Given the description of an element on the screen output the (x, y) to click on. 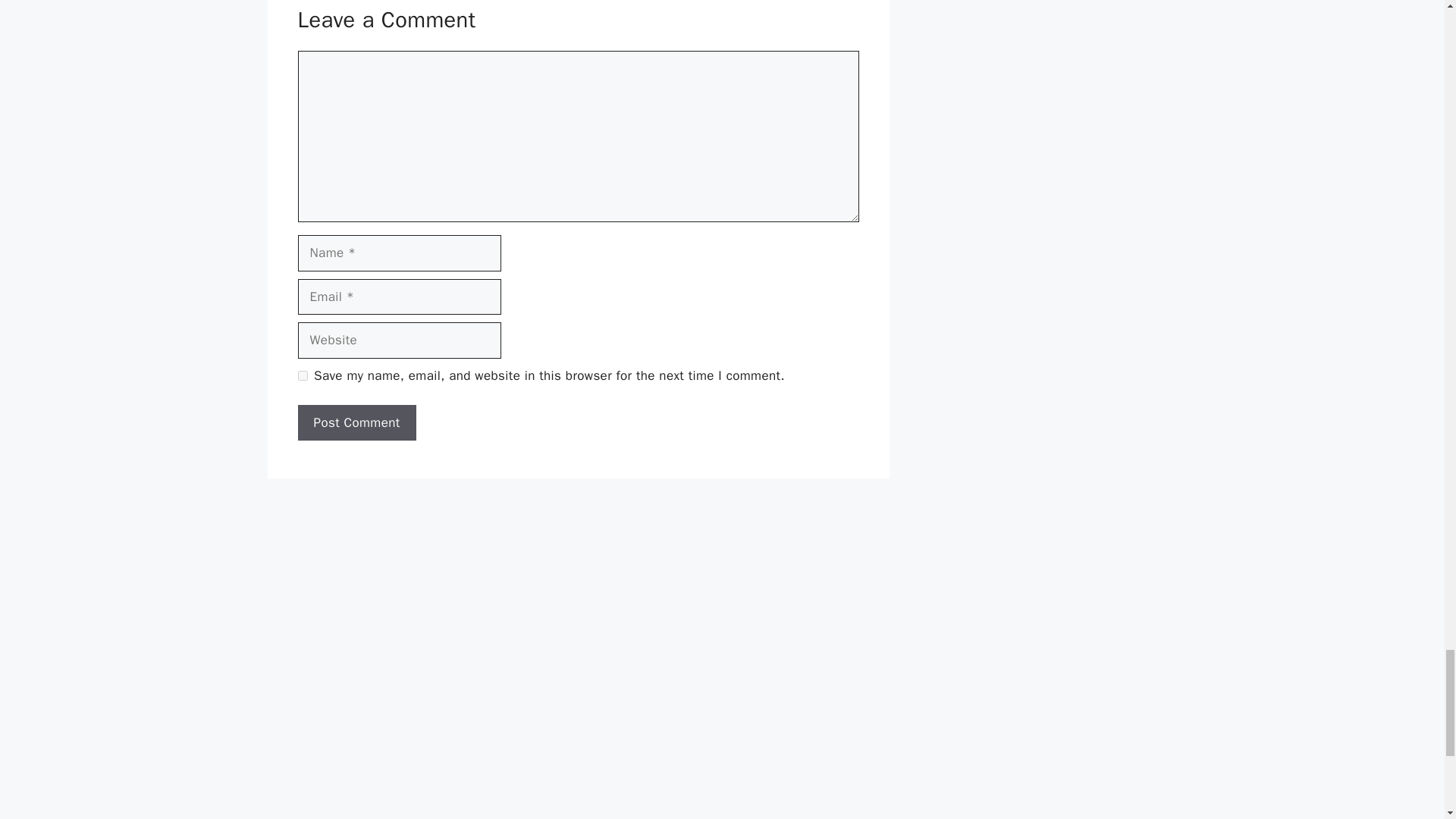
Post Comment (355, 422)
Post Comment (355, 422)
yes (302, 375)
